Given the description of an element on the screen output the (x, y) to click on. 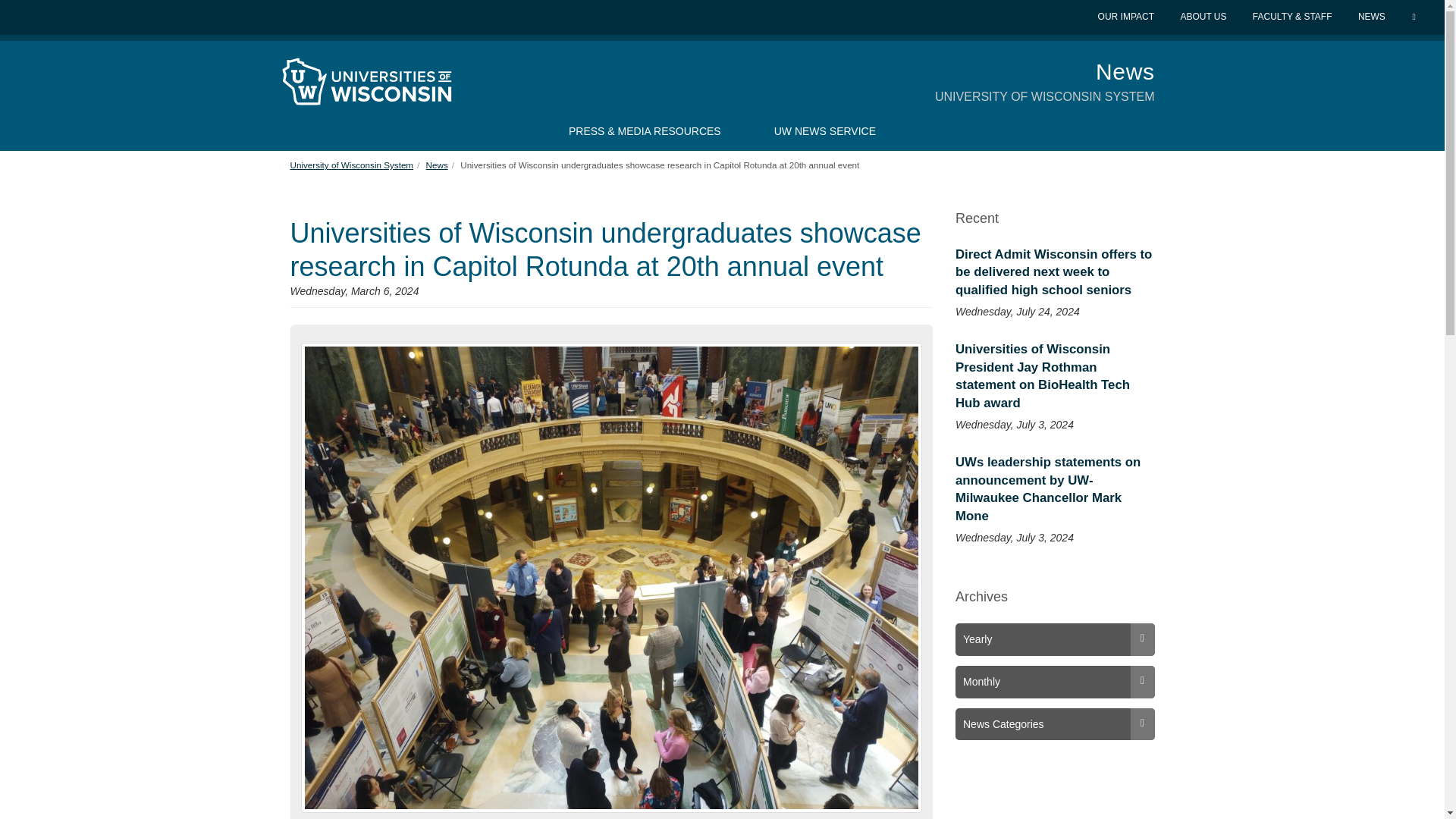
SEARCH (1415, 16)
OUR IMPACT (1127, 16)
University of Wisconsin News Service (824, 130)
News (437, 164)
NEWS (1373, 16)
UW NEWS SERVICE (824, 130)
University of Wisconsin System (351, 164)
News (1125, 71)
ABOUT US (1204, 16)
